Given the description of an element on the screen output the (x, y) to click on. 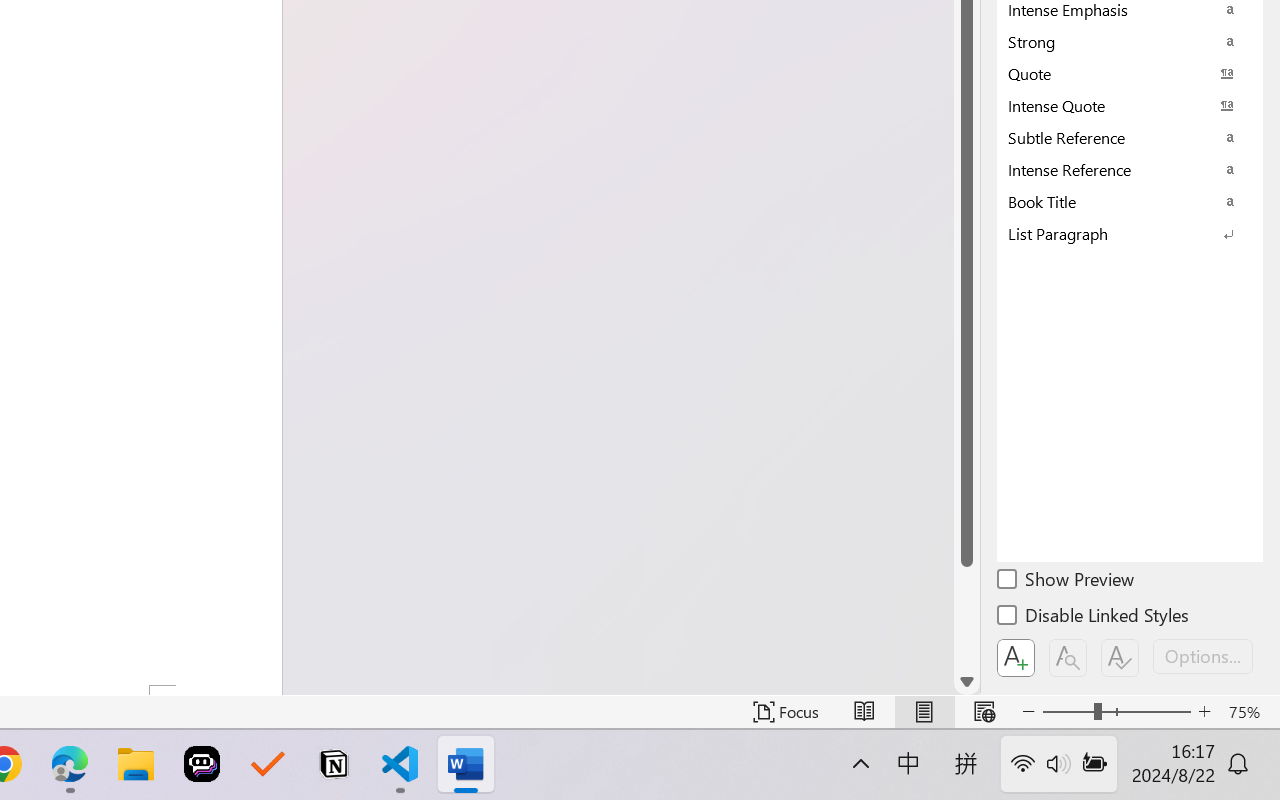
Options... (1203, 656)
List Paragraph (1130, 233)
Intense Reference (1130, 169)
Show Preview (1067, 582)
Quote (1130, 73)
Strong (1130, 41)
Book Title (1130, 201)
Zoom 75% (1249, 712)
Line down (966, 681)
Disable Linked Styles (1094, 618)
